Given the description of an element on the screen output the (x, y) to click on. 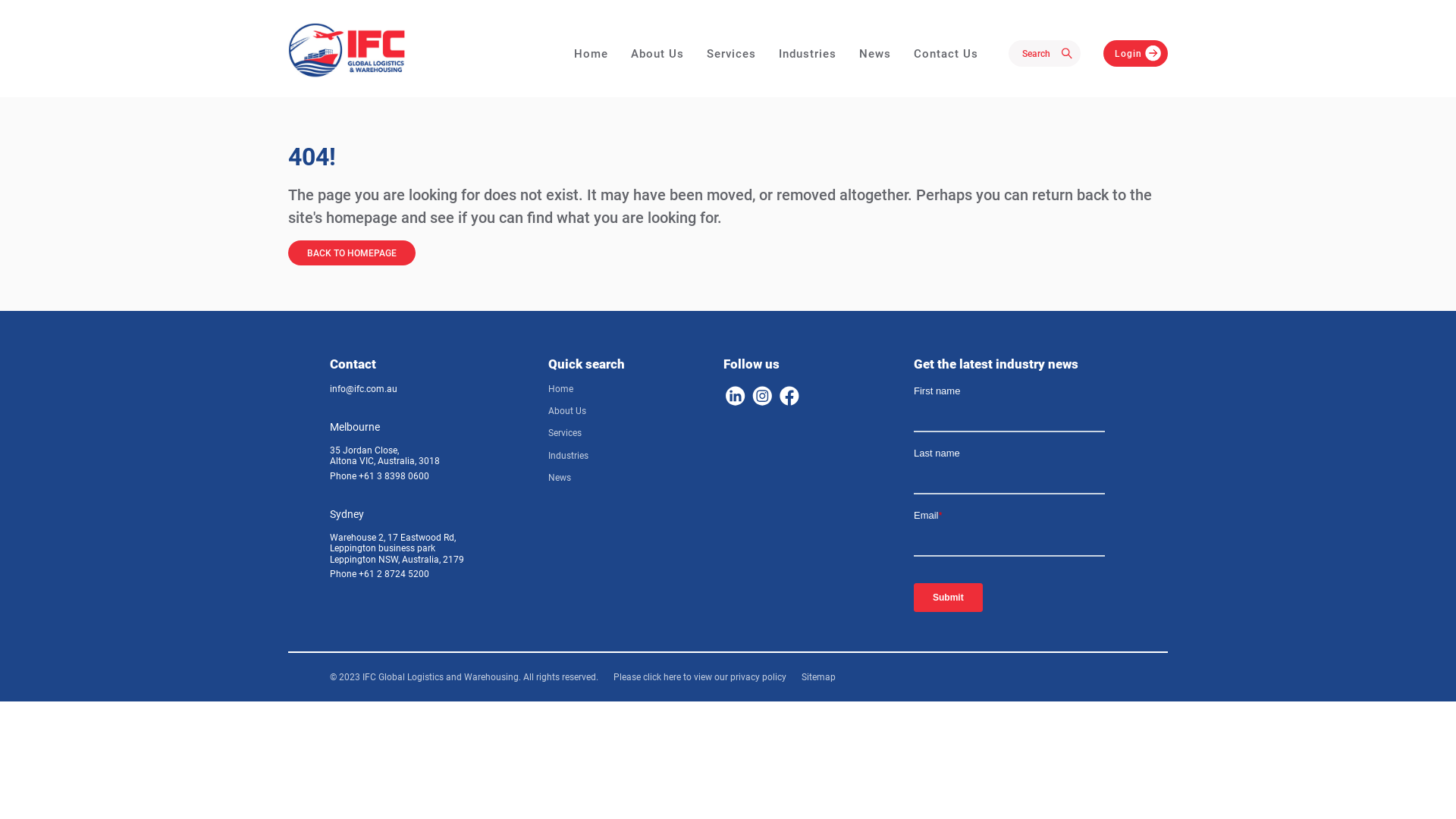
About Us Element type: text (567, 410)
Industries Element type: text (568, 455)
Industries Element type: text (807, 53)
About Us Element type: text (657, 53)
Home Element type: text (591, 53)
Please click here to view our privacy policy Element type: text (699, 676)
Contact Us Element type: text (945, 53)
Form 0 Element type: hover (1019, 503)
News Element type: text (559, 477)
submit Element type: text (1068, 54)
info@ifc.com.au Element type: text (363, 388)
Services Element type: text (731, 53)
News Element type: text (875, 53)
BACK TO HOMEPAGE Element type: text (351, 252)
Services Element type: text (564, 432)
Sitemap Element type: text (818, 676)
+61 3 8398 0600 Element type: text (393, 475)
IFC - Global Logistics & Warehousing Element type: hover (346, 50)
+61 2 8724 5200 Element type: text (393, 573)
Login Element type: text (1135, 53)
Home Element type: text (560, 388)
